Given the description of an element on the screen output the (x, y) to click on. 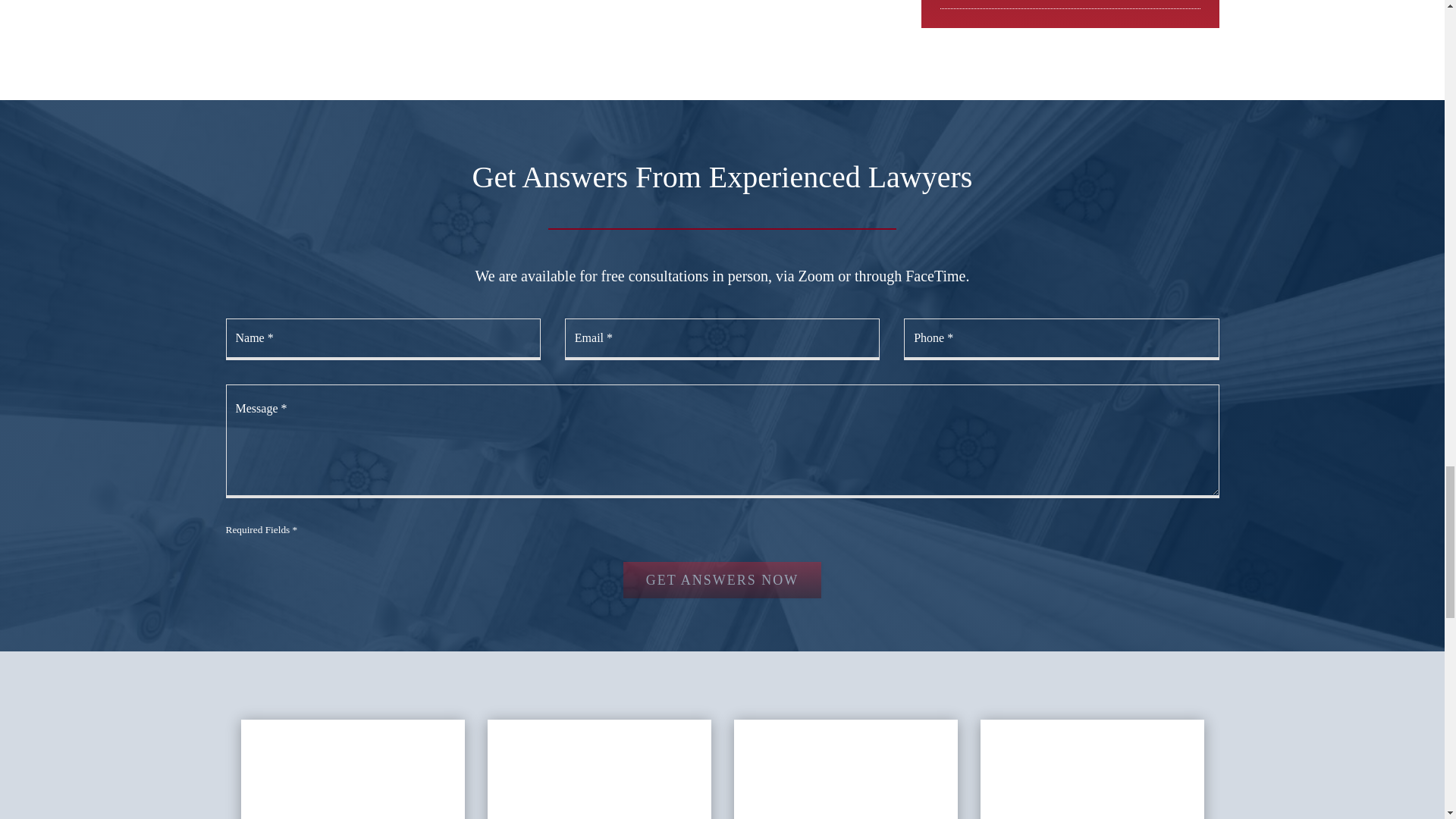
Get Answers Now (722, 579)
